Given the description of an element on the screen output the (x, y) to click on. 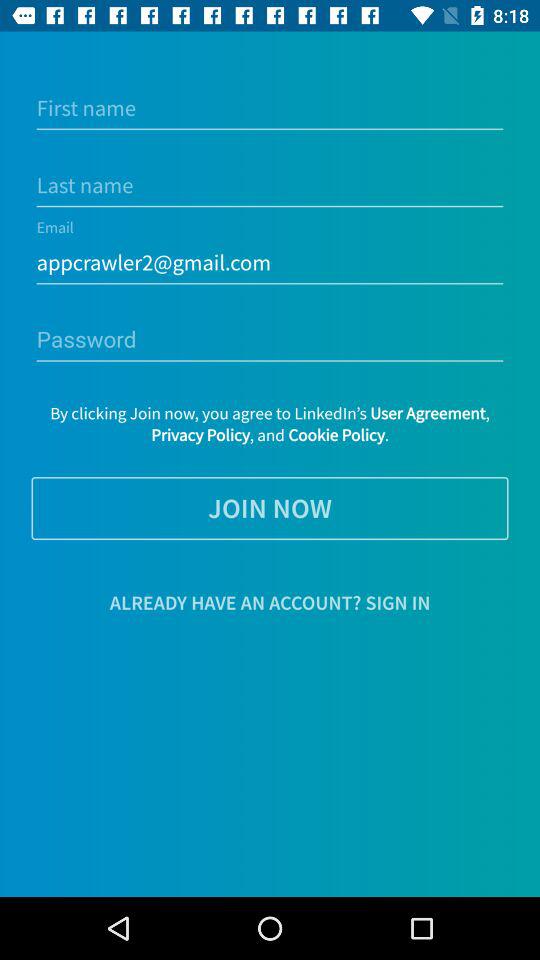
jump until by clicking join item (269, 424)
